Given the description of an element on the screen output the (x, y) to click on. 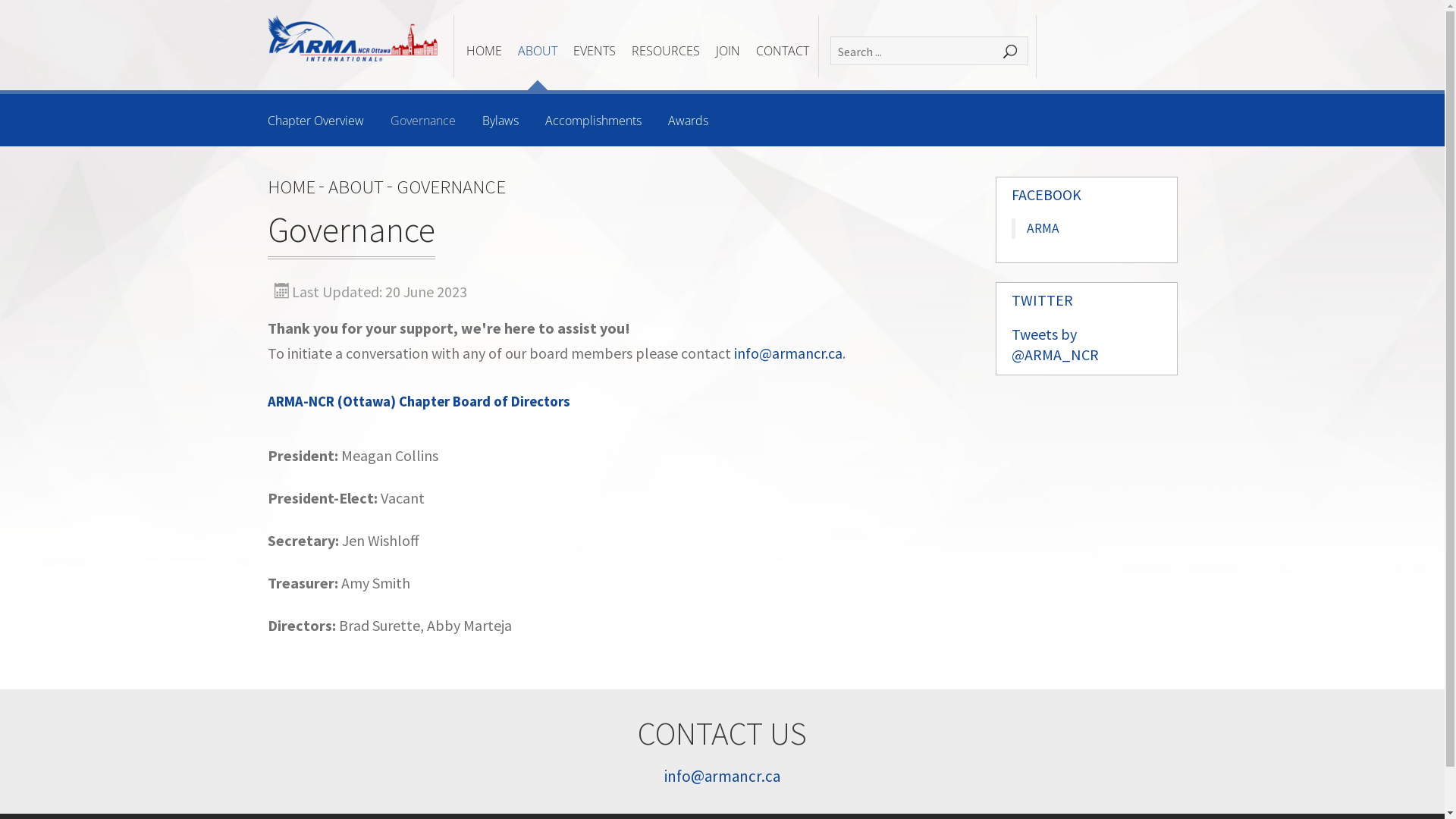
Bylaws Element type: text (500, 120)
RESOURCES Element type: text (664, 50)
ARMA Element type: text (1042, 227)
CONTACT Element type: text (781, 50)
HOME Element type: text (290, 186)
ABOUT Element type: text (354, 186)
Governance Element type: text (422, 120)
info@armancr.ca Element type: text (788, 352)
JOIN Element type: text (727, 50)
Tweets by @ARMA_NCR Element type: text (1054, 344)
Awards Element type: text (687, 120)
ABOUT Element type: text (536, 50)
Accomplishments Element type: text (592, 120)
Chapter Overview Element type: text (314, 120)
info@armancr.ca Element type: text (722, 775)
EVENTS Element type: text (594, 50)
. Element type: text (1009, 51)
HOME Element type: text (483, 50)
